Given the description of an element on the screen output the (x, y) to click on. 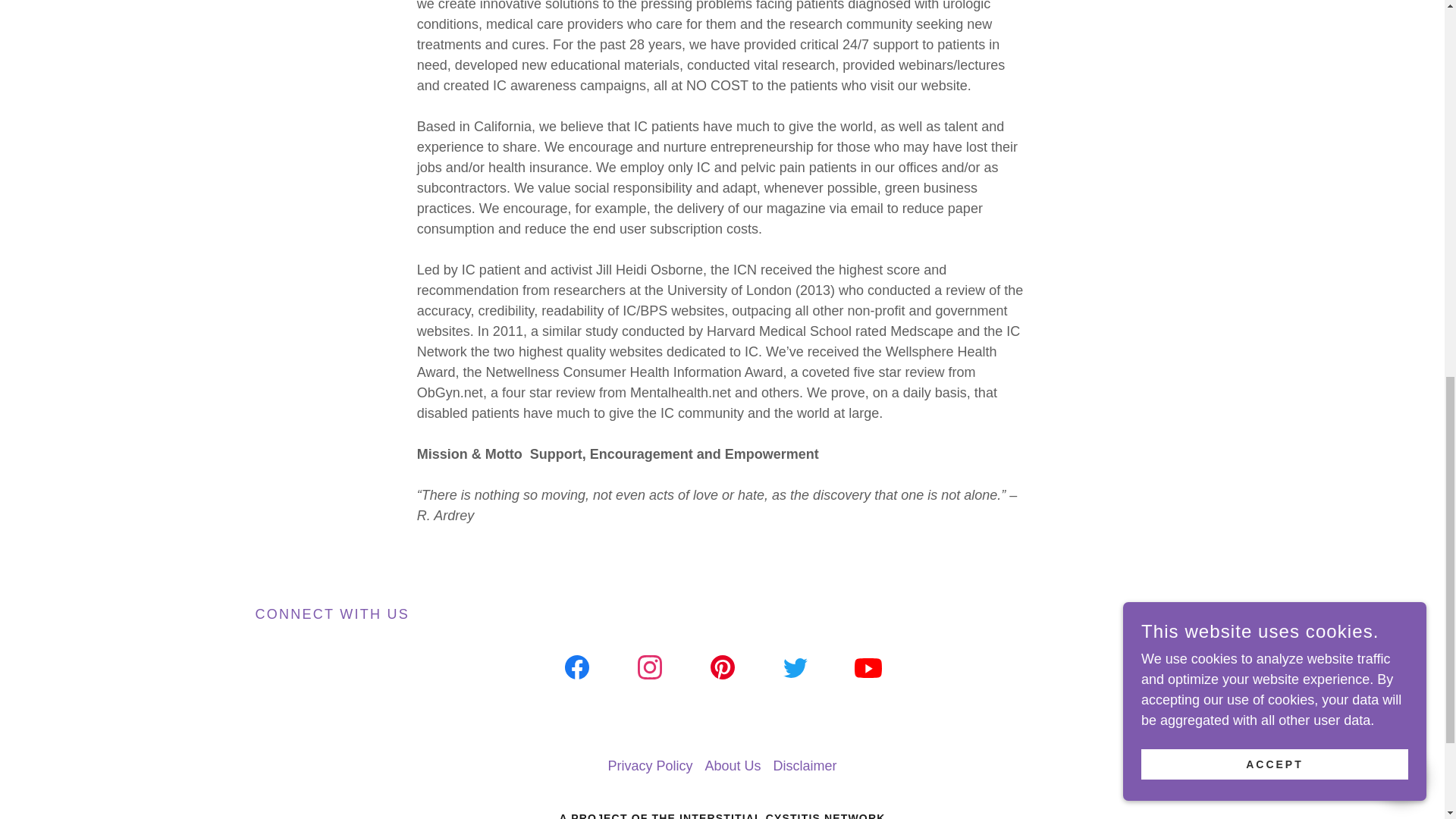
About Us (732, 766)
Privacy Policy (649, 766)
Disclaimer (805, 766)
